Given the description of an element on the screen output the (x, y) to click on. 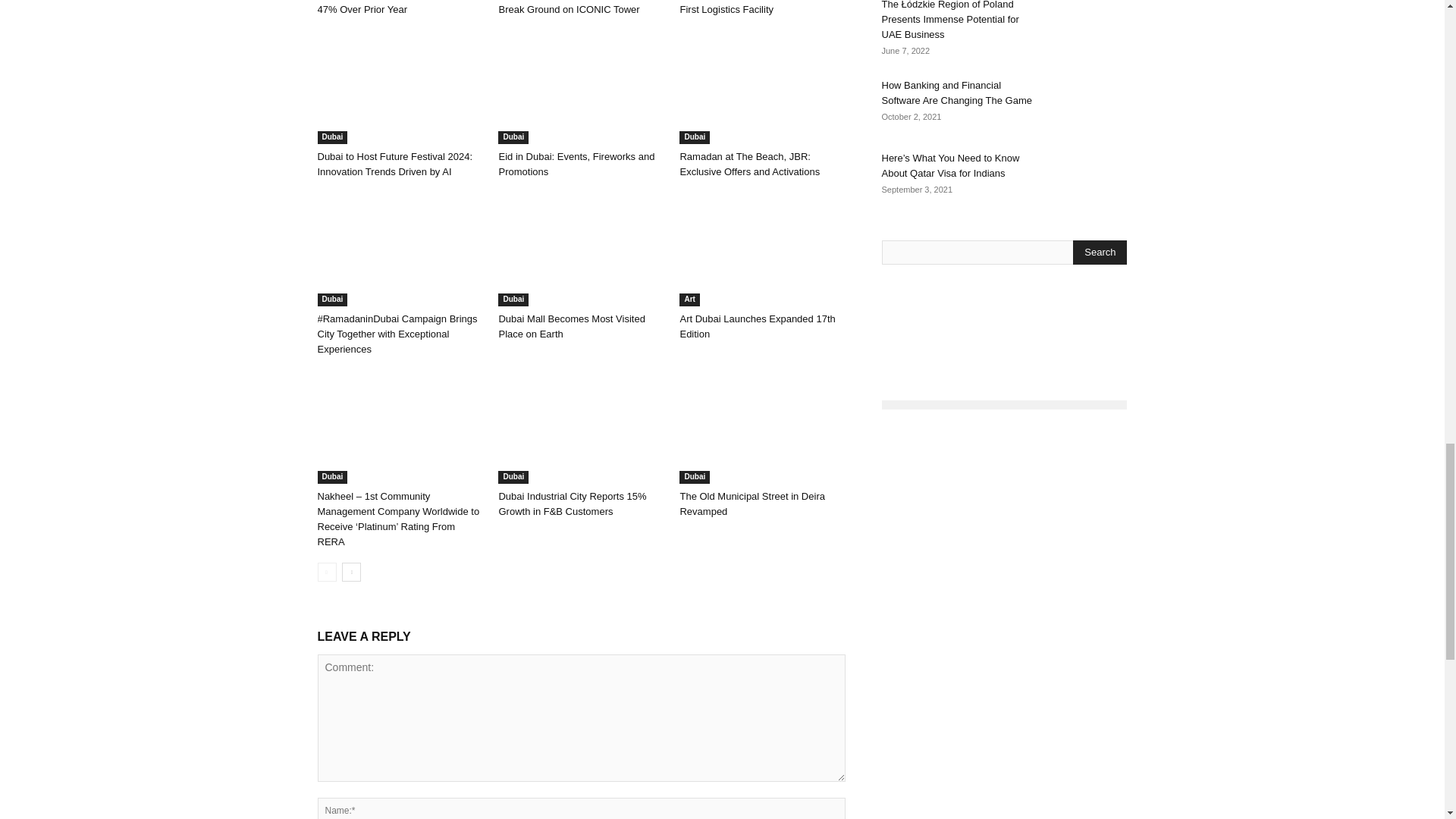
Search (1099, 252)
